Given the description of an element on the screen output the (x, y) to click on. 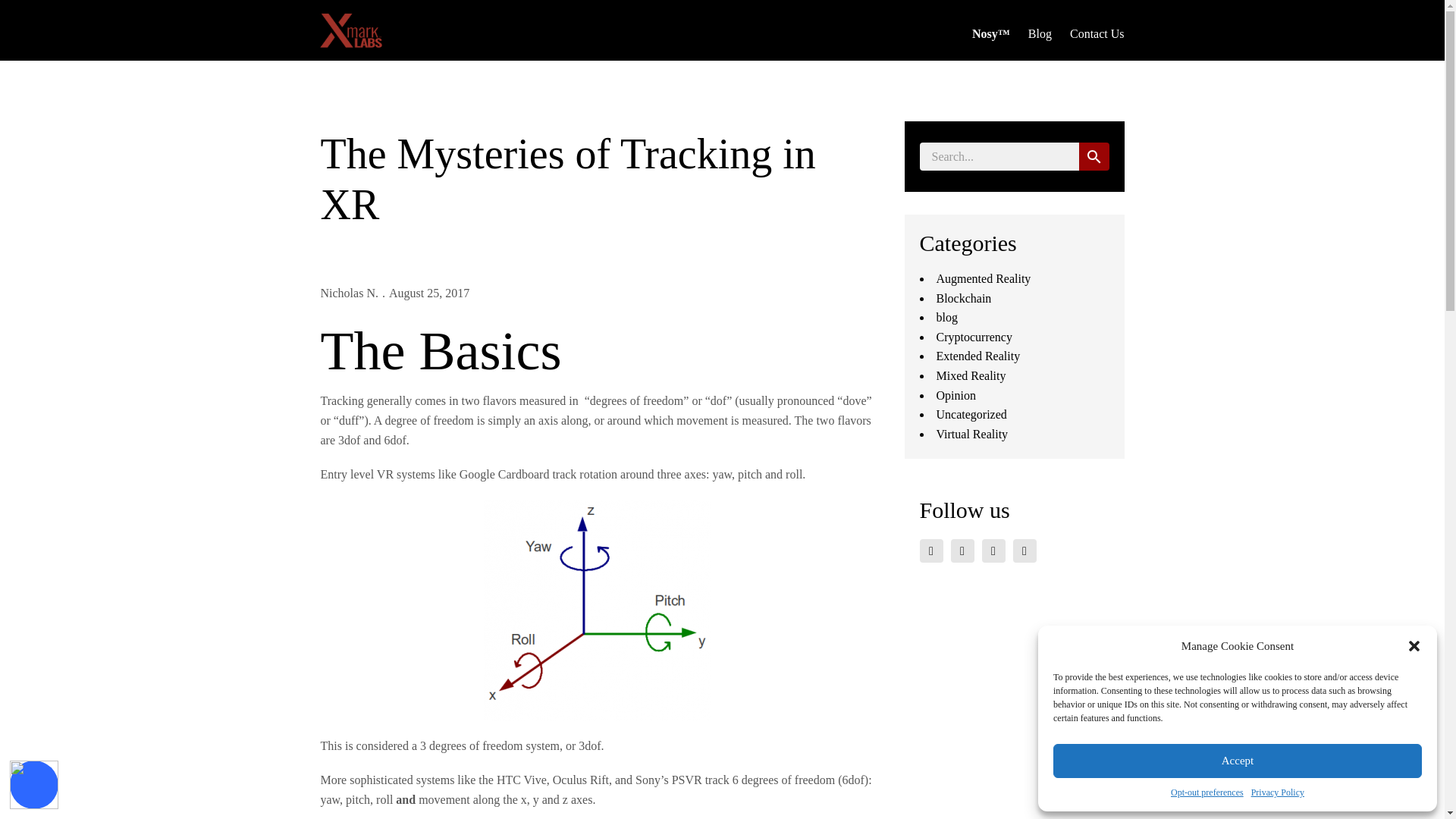
Blockchain (963, 297)
blog (946, 317)
Contact Us (1097, 33)
Uncategorized (971, 413)
Privacy Policy (1277, 792)
Mixed Reality (971, 375)
Augmented Reality (983, 278)
Extended Reality (978, 355)
Blog (1039, 33)
Opt-out preferences (1206, 792)
Accessibility Menu (34, 784)
Cryptocurrency (973, 336)
Virtual Reality (971, 433)
Accept (1237, 760)
Opinion (955, 395)
